Given the description of an element on the screen output the (x, y) to click on. 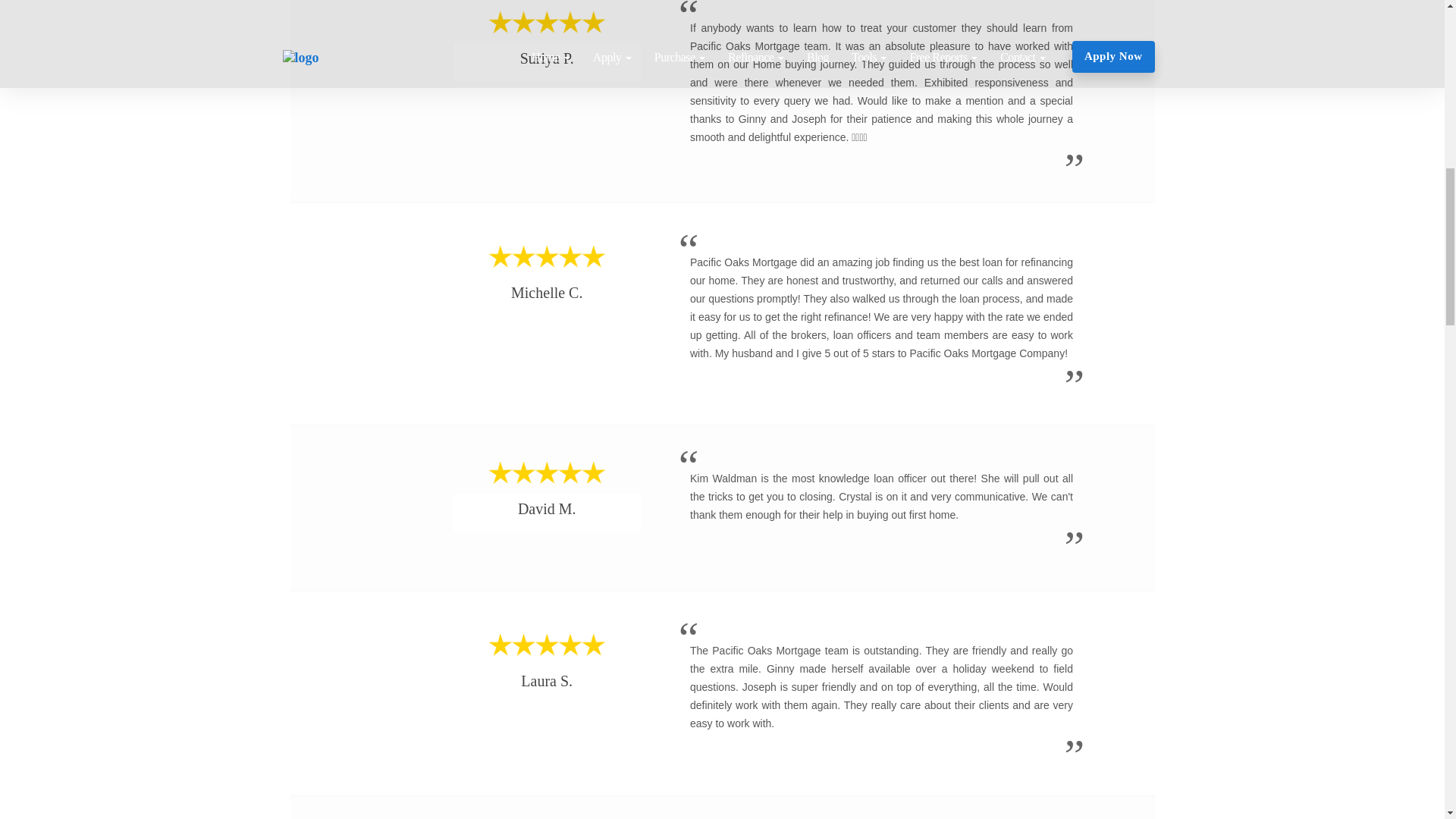
5 stars (546, 22)
5 stars (546, 473)
5 stars (546, 645)
5 stars (546, 257)
